Given the description of an element on the screen output the (x, y) to click on. 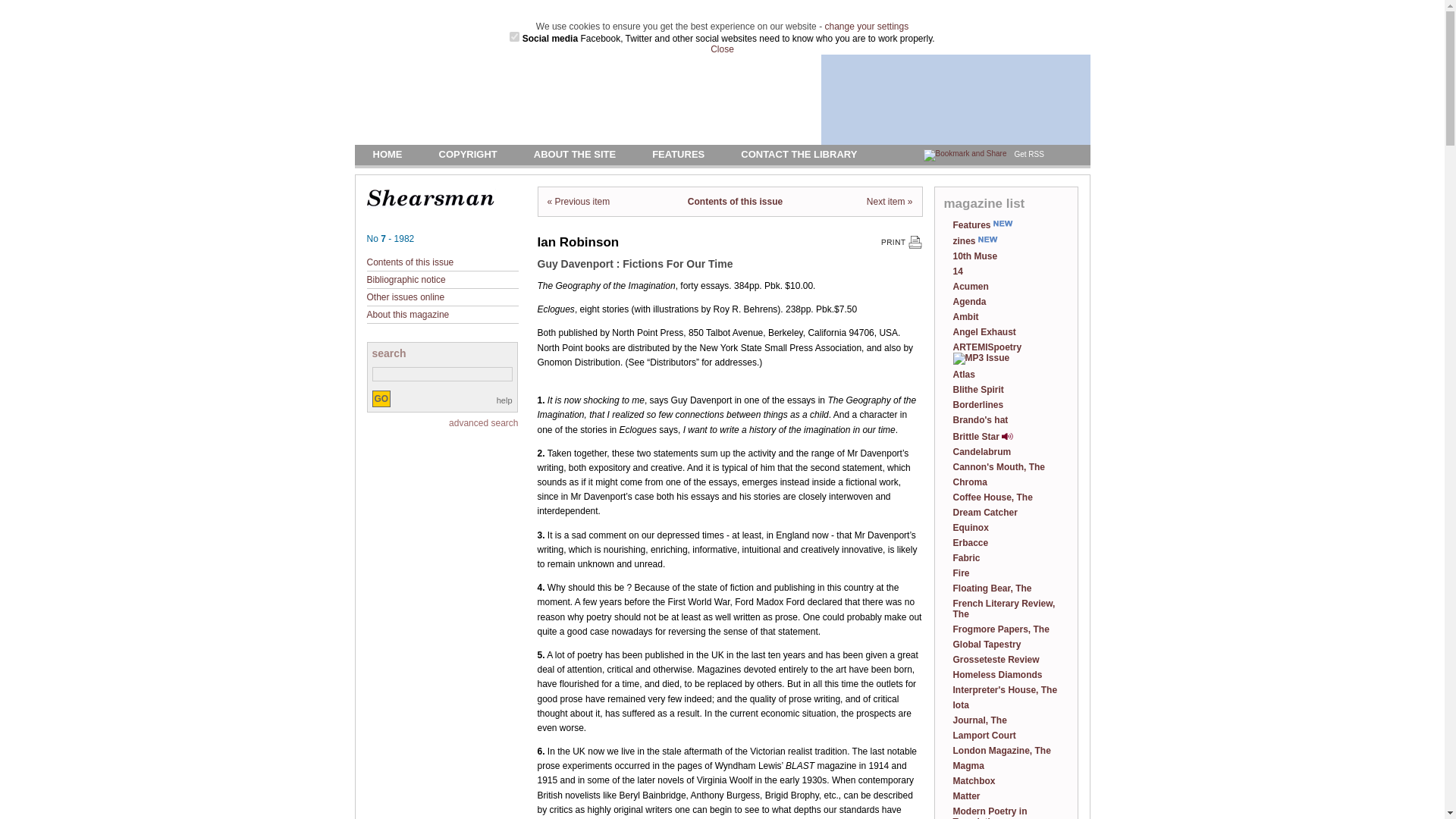
Go (380, 398)
Get RSS (1028, 153)
ARTEMISpoetry (987, 352)
New (987, 239)
Brittle Star (981, 436)
Borderlines (977, 404)
ABOUT THE SITE (574, 153)
Acumen (970, 286)
zines (974, 240)
New (1002, 223)
